Given the description of an element on the screen output the (x, y) to click on. 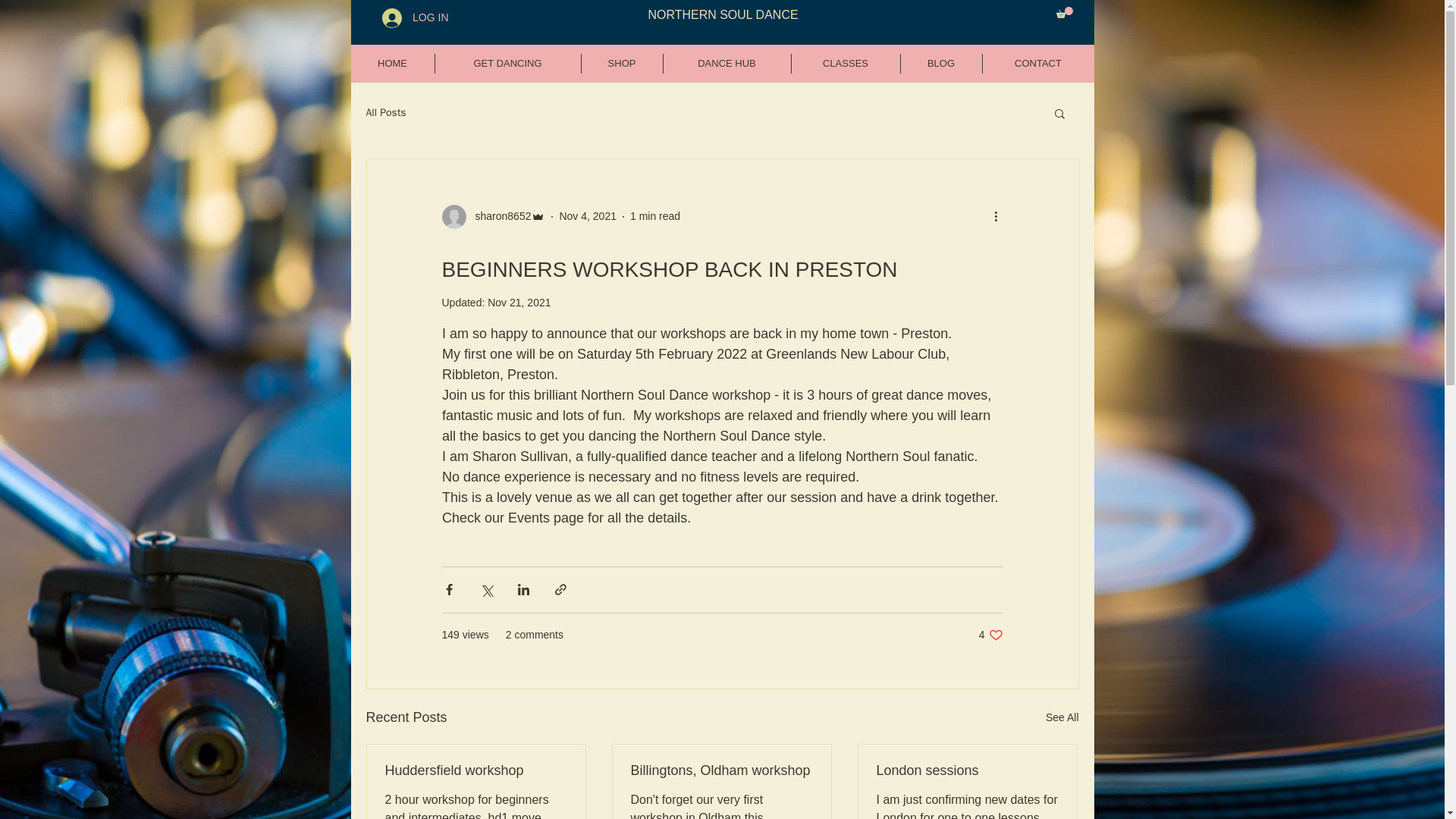
1 min read (654, 215)
HOME (391, 63)
Huddersfield workshop (476, 770)
All Posts (385, 112)
CLASSES (845, 63)
NORTHERN SOUL DANCE (722, 14)
DANCE HUB (726, 63)
See All (1061, 717)
sharon8652 (492, 216)
Nov 4, 2021 (587, 215)
GET DANCING (507, 63)
London sessions (967, 770)
Nov 21, 2021 (518, 302)
SHOP (621, 63)
LOG IN (414, 17)
